Given the description of an element on the screen output the (x, y) to click on. 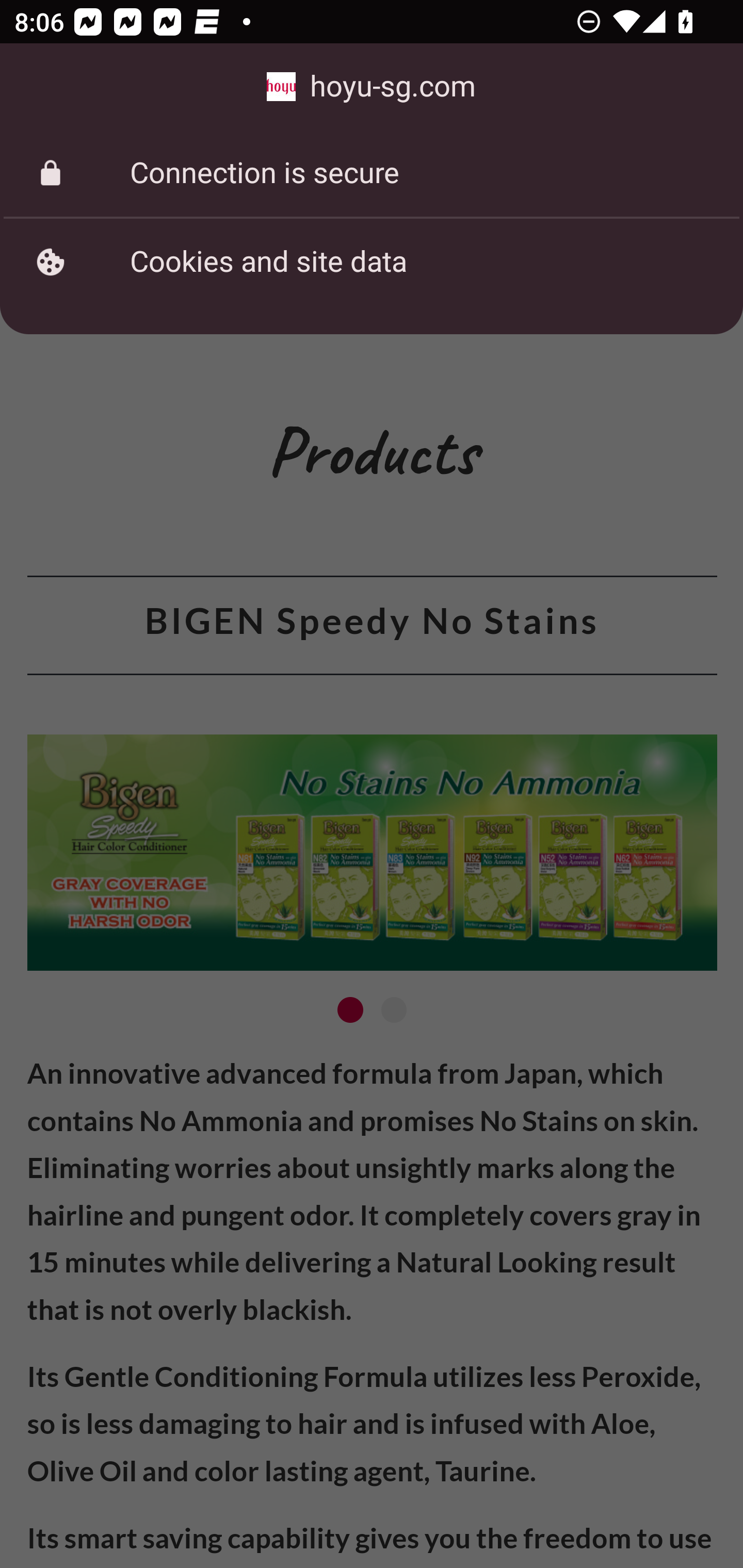
hoyu-sg.com (371, 86)
Connection is secure (371, 173)
Cookies and site data (371, 261)
